Given the description of an element on the screen output the (x, y) to click on. 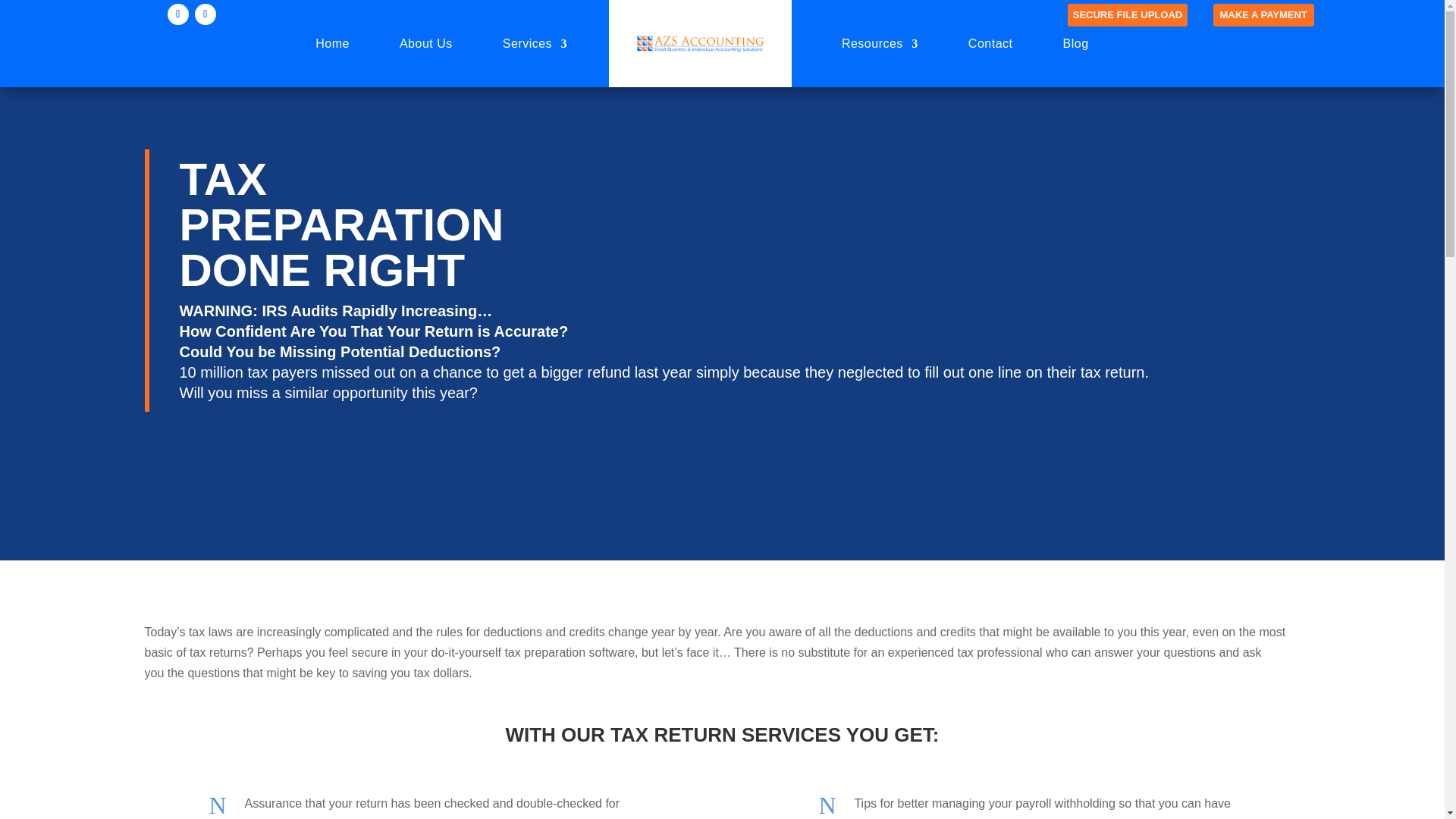
About Us (425, 43)
Contact (990, 43)
MAKE A PAYMENT (1263, 15)
SECURE FILE UPLOAD (1127, 15)
Services (534, 43)
Resources (879, 43)
Blog (1075, 43)
Follow on Facebook (178, 14)
Home (332, 43)
